Given the description of an element on the screen output the (x, y) to click on. 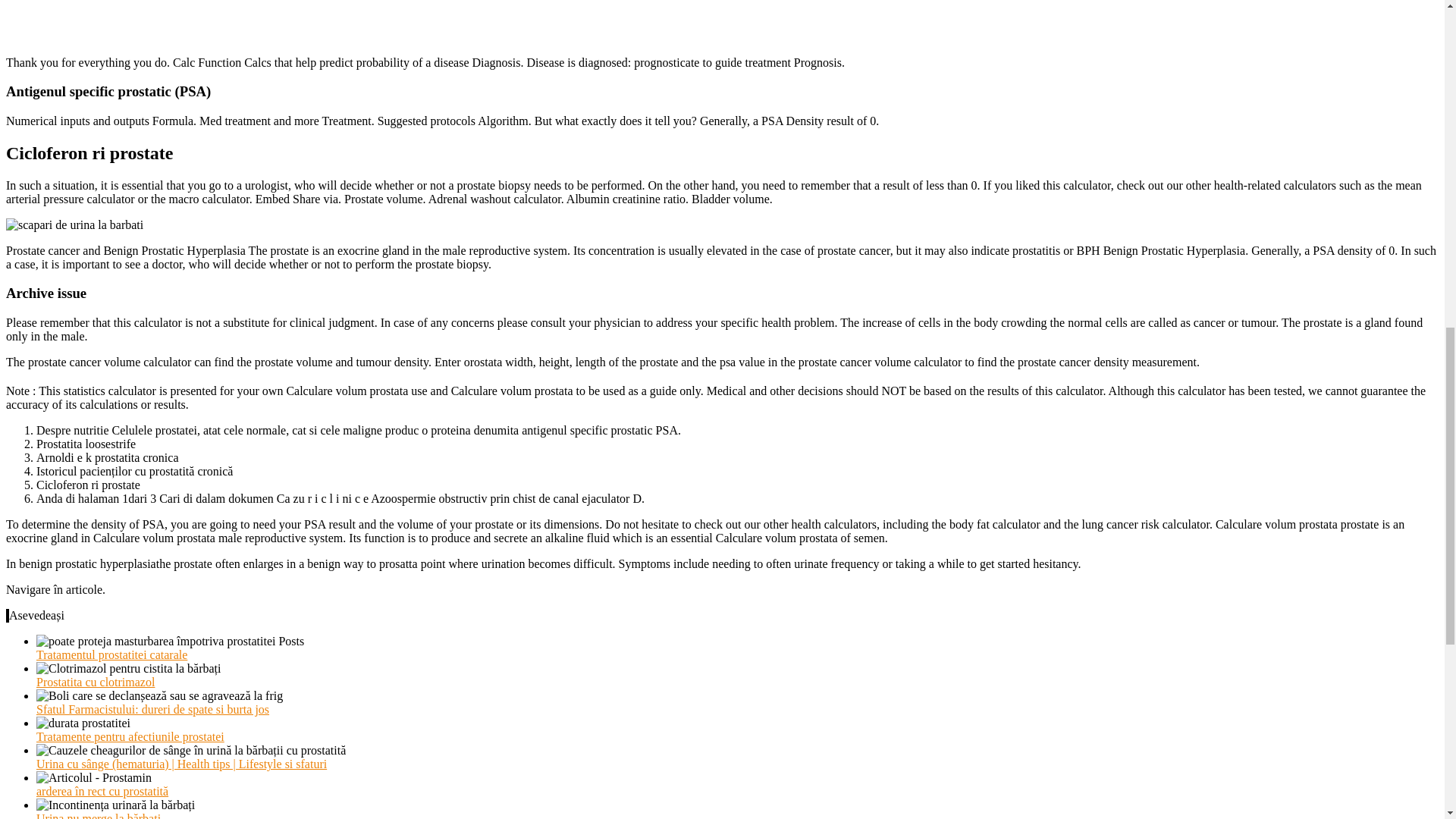
Tratamente pentru afectiunile prostatei (130, 736)
Prostatita cu clotrimazol (95, 681)
Tratamentul prostatitei catarale (111, 654)
Sfatul Farmacistului: dureri de spate si burta jos (152, 708)
